Given the description of an element on the screen output the (x, y) to click on. 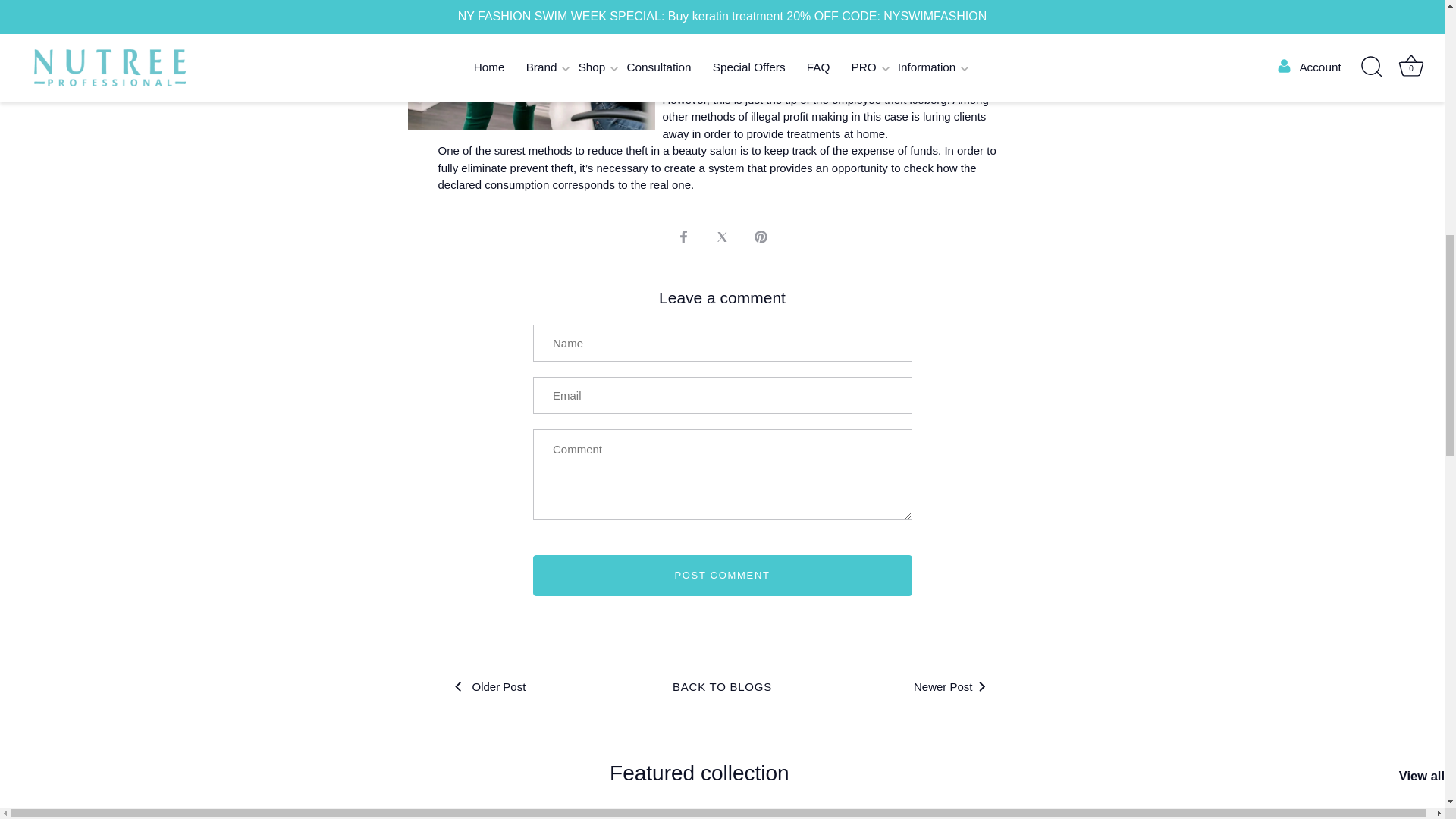
Post comment (721, 575)
